Given the description of an element on the screen output the (x, y) to click on. 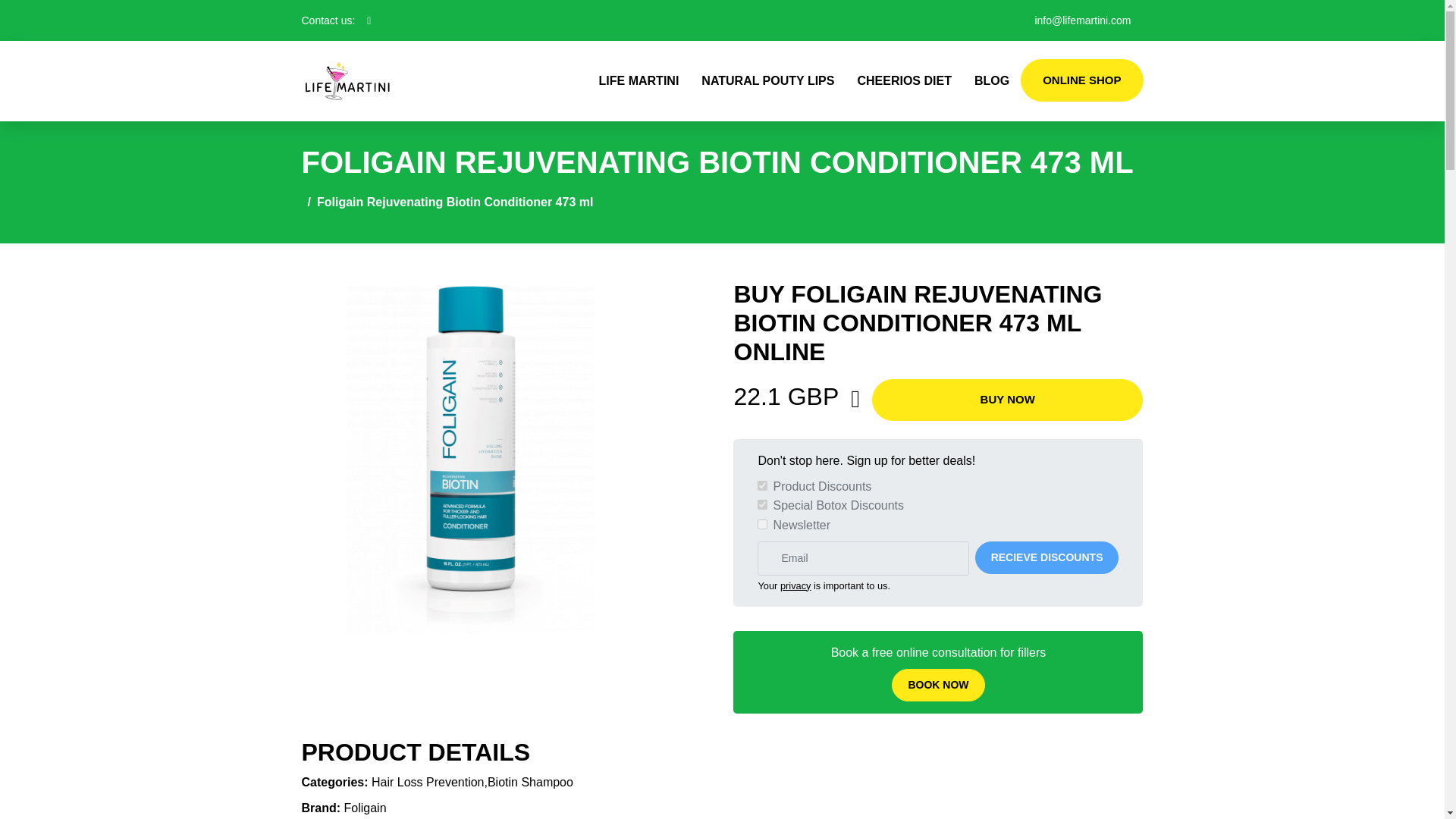
BOOK NOW (937, 685)
Biotin Shampoo (530, 781)
BUY NOW (1007, 400)
1 (762, 524)
privacy (795, 585)
CHEERIOS DIET (903, 80)
LIFE MARTINI (639, 80)
1 (762, 504)
ONLINE SHOP (1081, 79)
Hair Loss Prevention (427, 781)
